Given the description of an element on the screen output the (x, y) to click on. 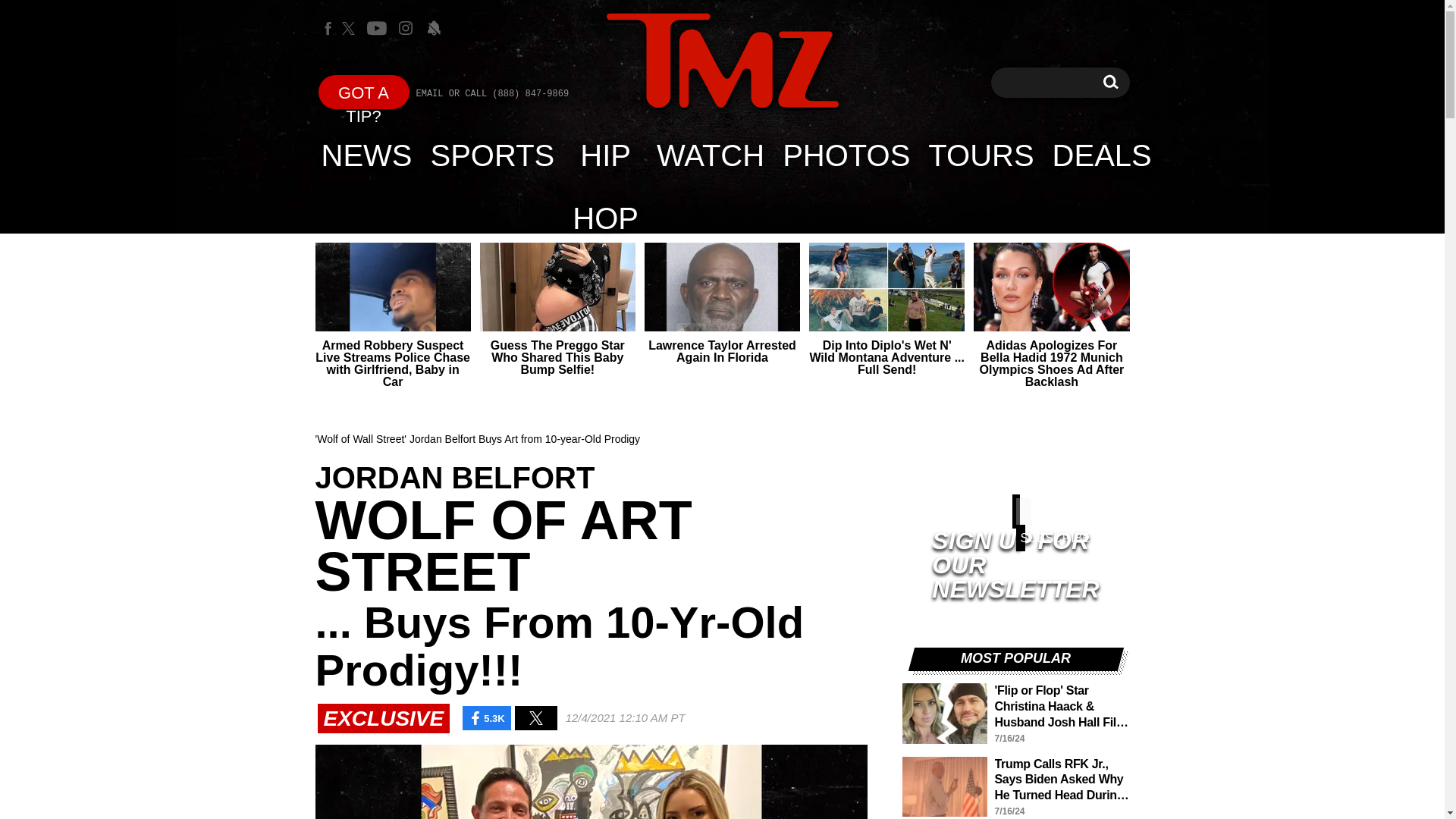
SPORTS (493, 154)
GOT A TIP? (363, 91)
NEWS (367, 154)
PHOTOS (845, 154)
Search (1110, 81)
TMZ (1110, 82)
HIP HOP (722, 60)
WATCH (605, 154)
DEALS (710, 154)
TMZ (1101, 154)
TOURS (722, 62)
